Given the description of an element on the screen output the (x, y) to click on. 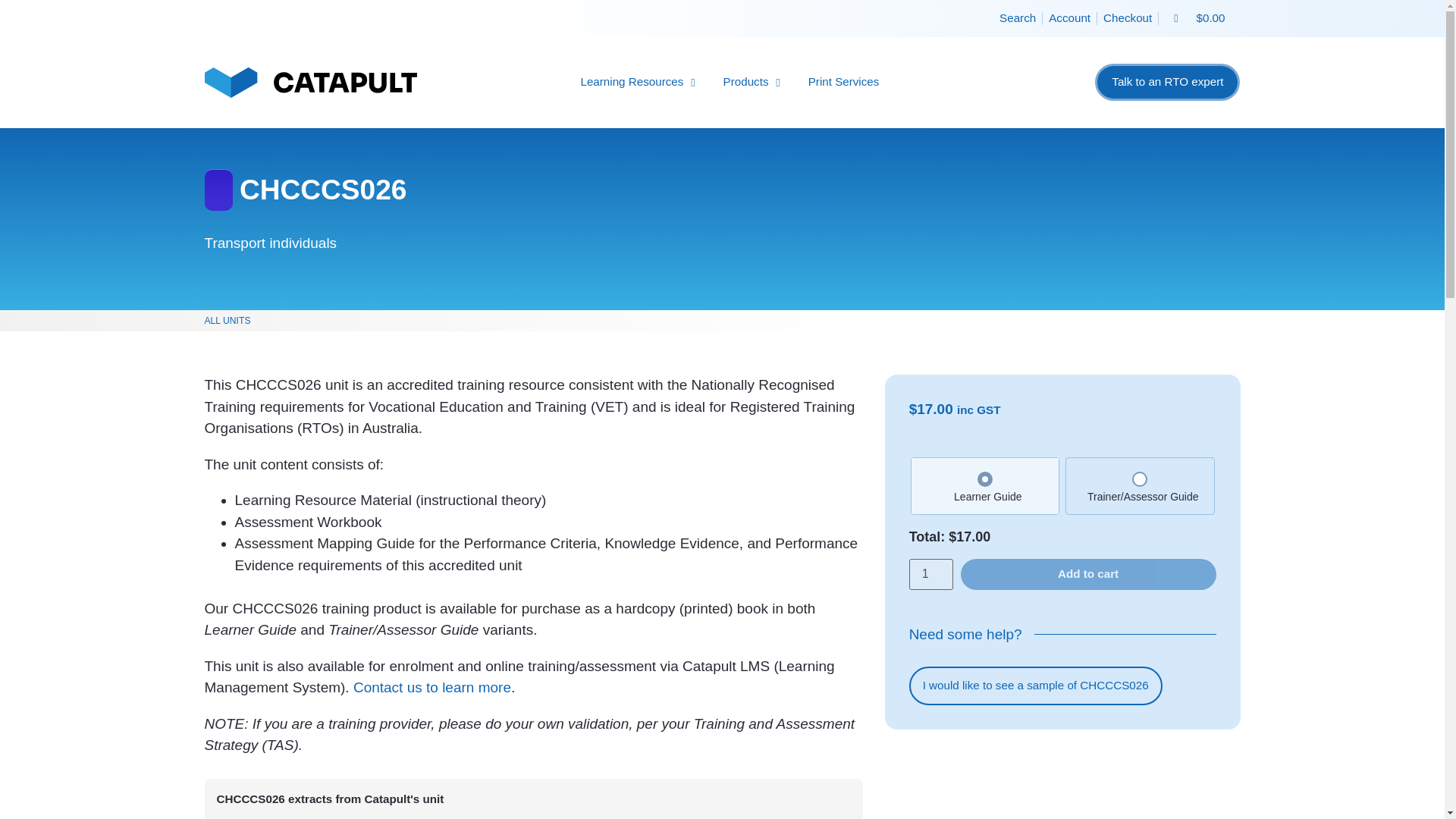
Account (1069, 18)
Print Services (843, 81)
Talk to an RTO expert (1167, 81)
ALL UNITS (227, 320)
1 (930, 574)
Checkout (1127, 18)
Search (1017, 18)
